Given the description of an element on the screen output the (x, y) to click on. 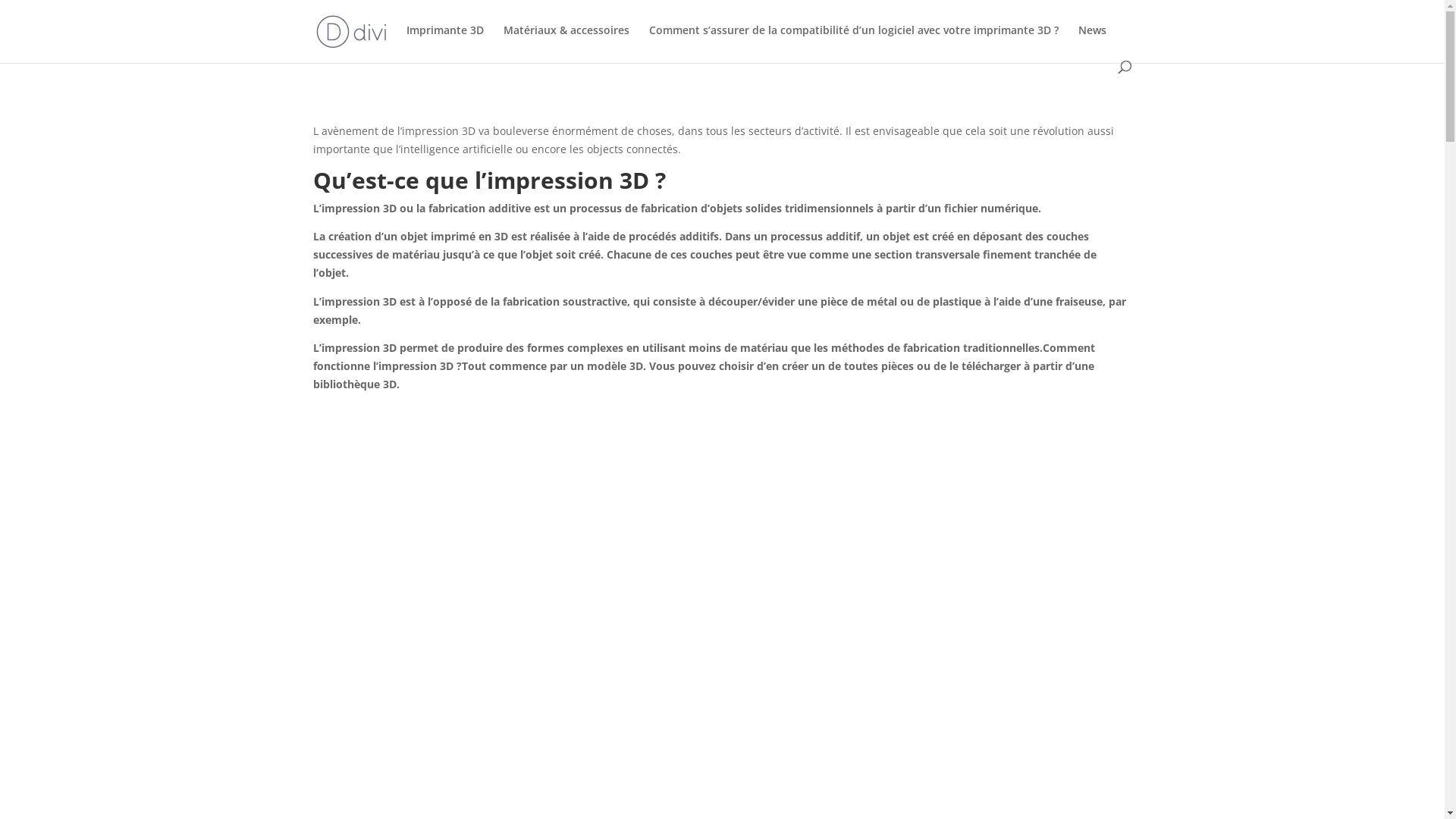
News Element type: text (1092, 42)
Imprimante 3D Element type: text (444, 42)
